Given the description of an element on the screen output the (x, y) to click on. 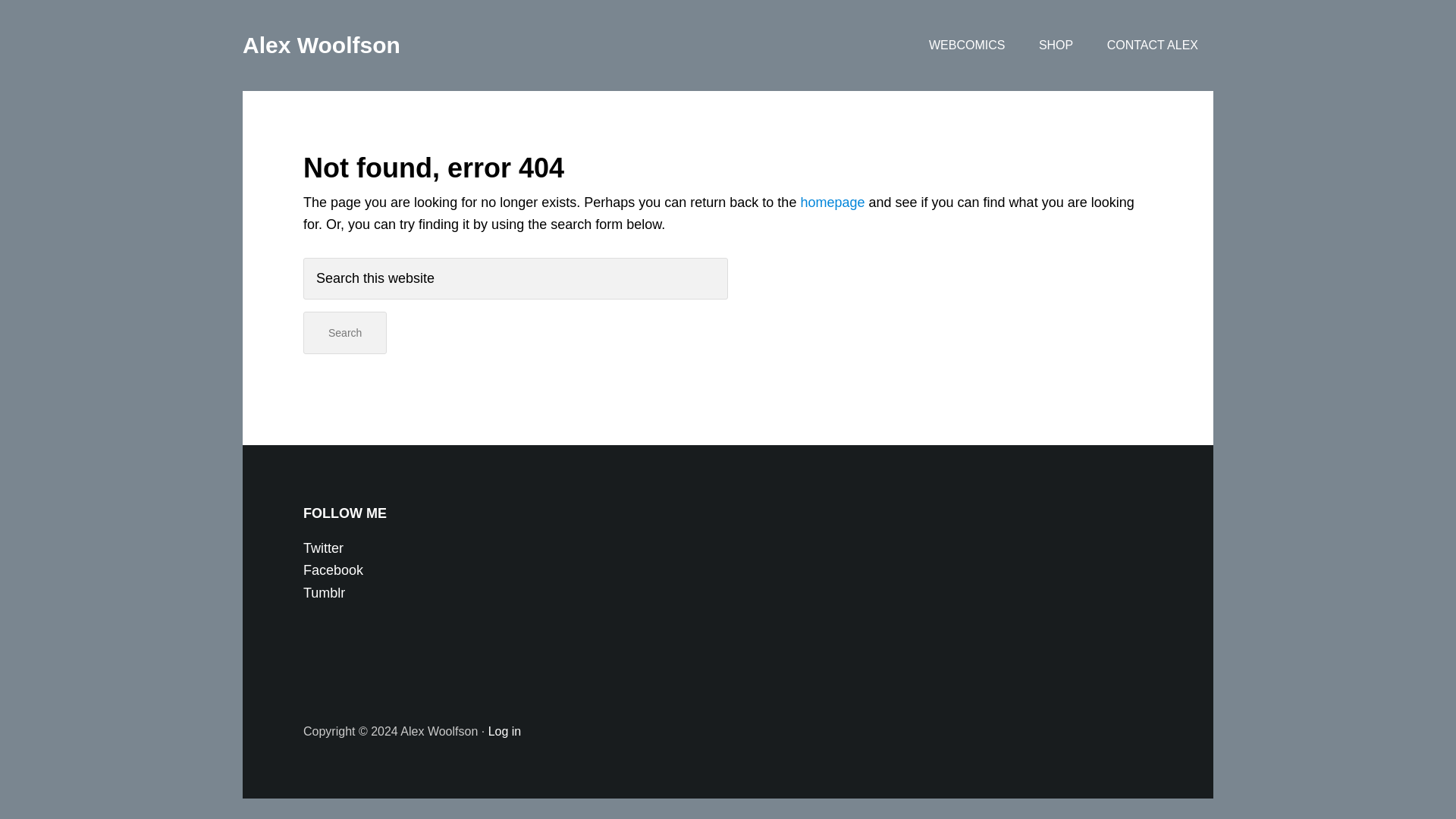
Twitter (322, 548)
WEBCOMICS (967, 45)
Tumblr (323, 592)
Search (344, 333)
Facebook (332, 570)
Search (344, 333)
Log in (504, 730)
homepage (831, 201)
Search (344, 333)
